Given the description of an element on the screen output the (x, y) to click on. 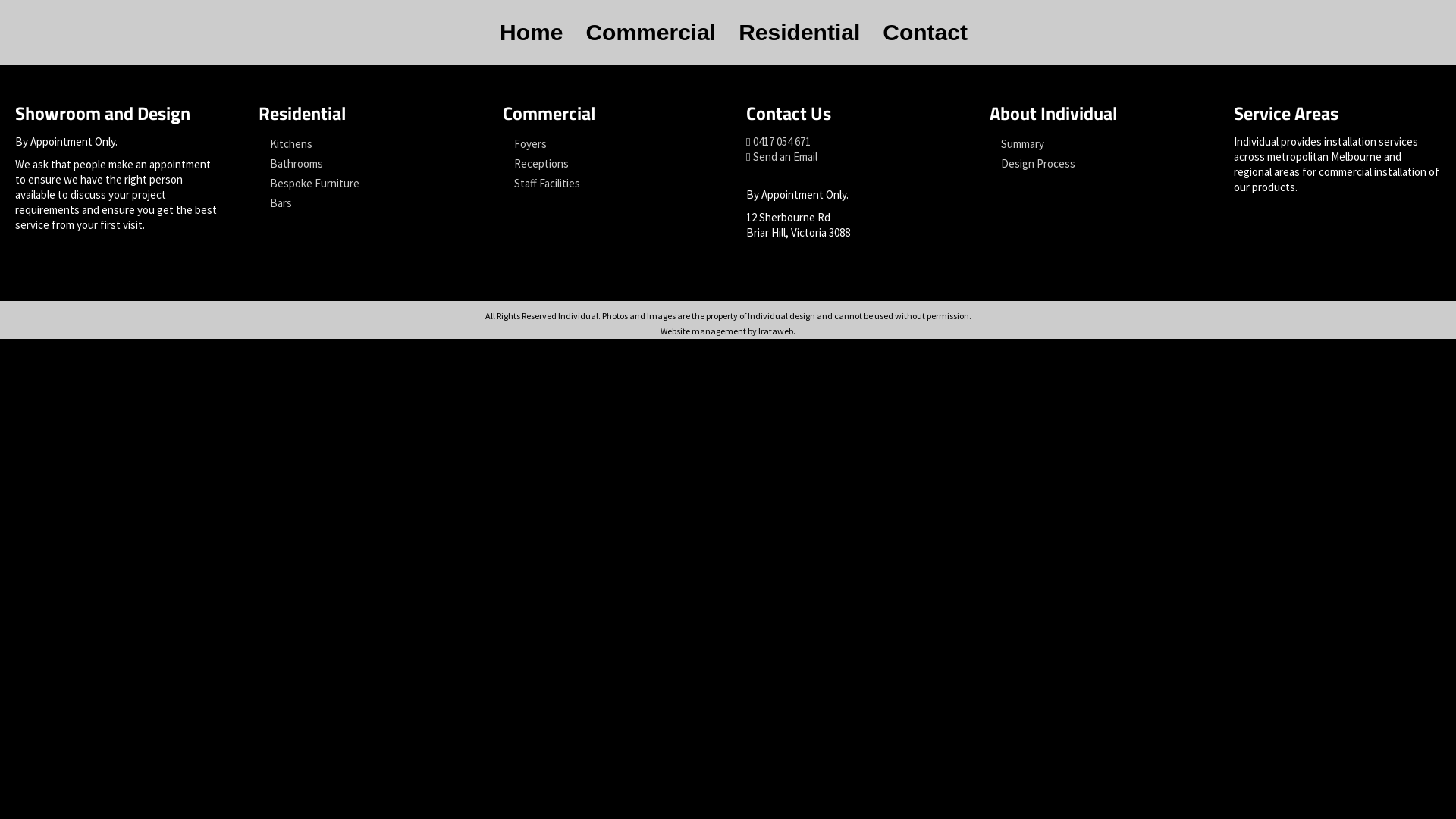
Foyers Element type: text (605, 143)
Home Element type: text (531, 32)
Bathrooms Element type: text (361, 163)
Summary Element type: text (1092, 143)
Staff Facilities Element type: text (605, 183)
Irataweb Element type: text (775, 330)
Send an Email Element type: text (785, 156)
Commercial Element type: text (650, 32)
Bars Element type: text (361, 203)
Contact Element type: text (925, 32)
Residential Element type: text (799, 32)
Receptions Element type: text (605, 163)
Bespoke Furniture Element type: text (361, 183)
Design Process Element type: text (1092, 163)
Kitchens Element type: text (361, 143)
0417 054 671 Element type: text (781, 141)
